Given the description of an element on the screen output the (x, y) to click on. 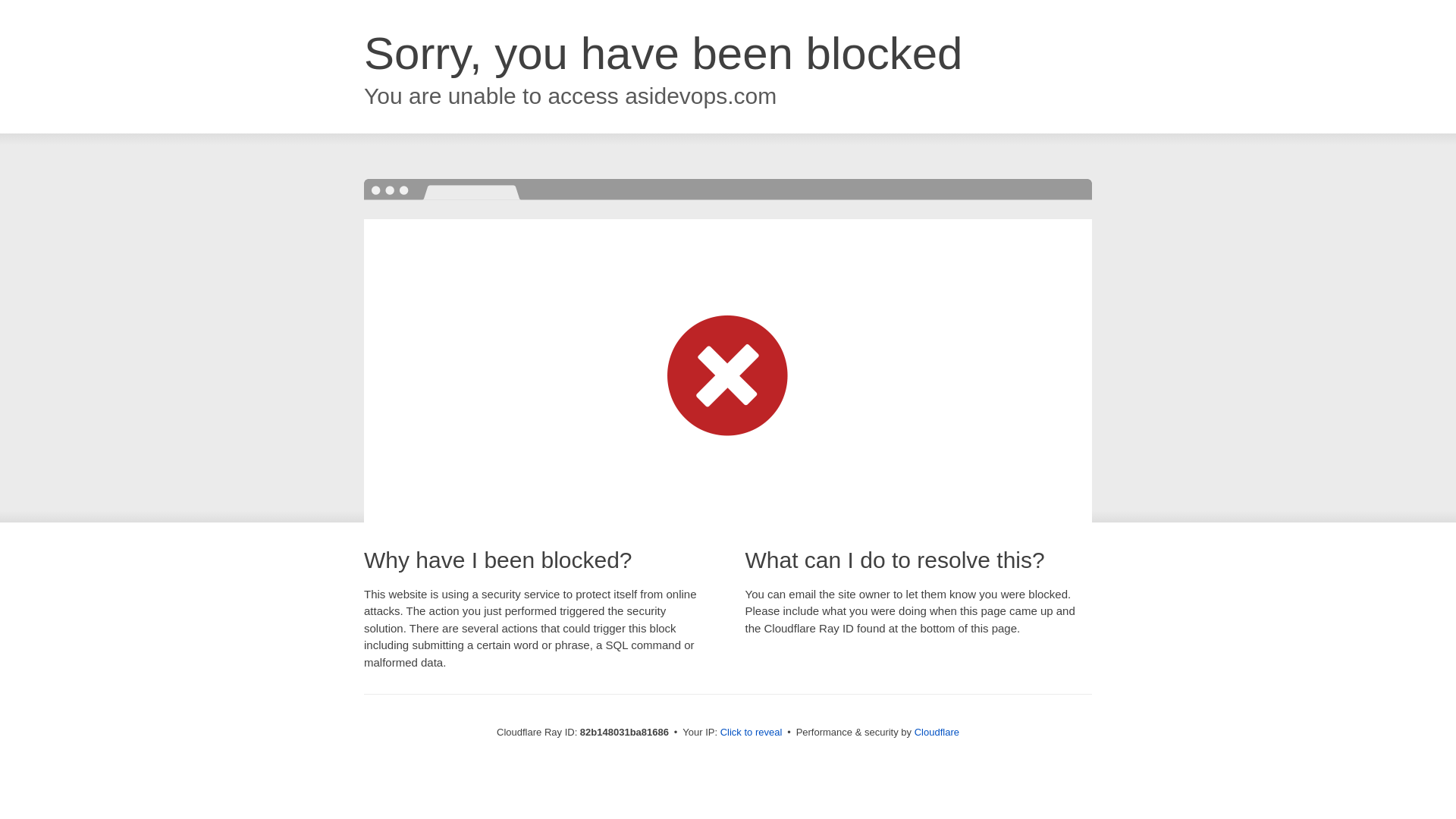
Click to reveal Element type: text (751, 732)
Cloudflare Element type: text (936, 731)
